Given the description of an element on the screen output the (x, y) to click on. 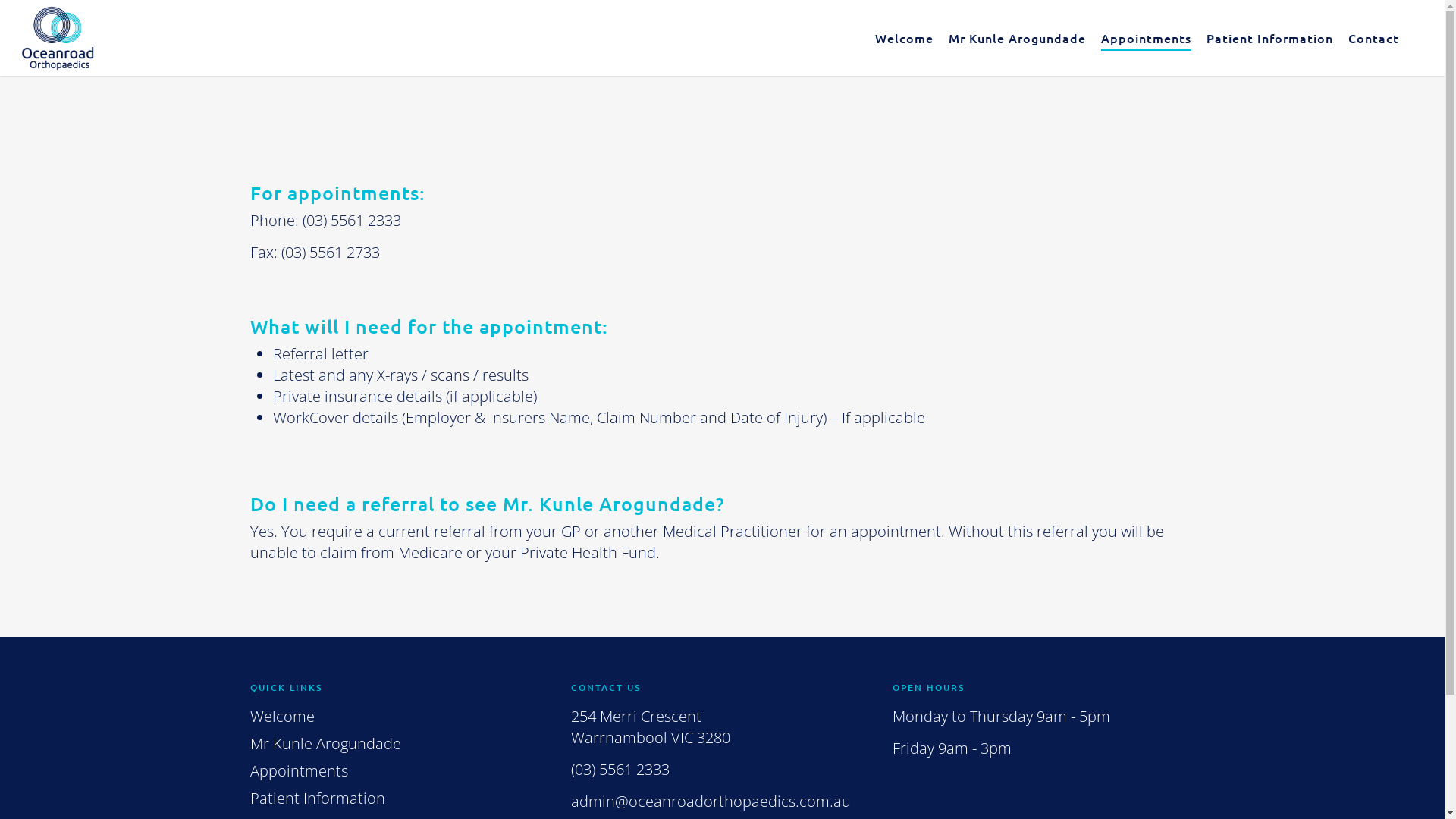
Patient Information Element type: text (1269, 40)
Welcome Element type: text (401, 716)
Appointments Element type: text (1146, 40)
Appointments Element type: text (401, 770)
Welcome Element type: text (904, 40)
Mr Kunle Arogundade Element type: text (401, 743)
Patient Information Element type: text (401, 798)
Mr Kunle Arogundade Element type: text (1016, 40)
Contact Element type: text (1373, 40)
